Given the description of an element on the screen output the (x, y) to click on. 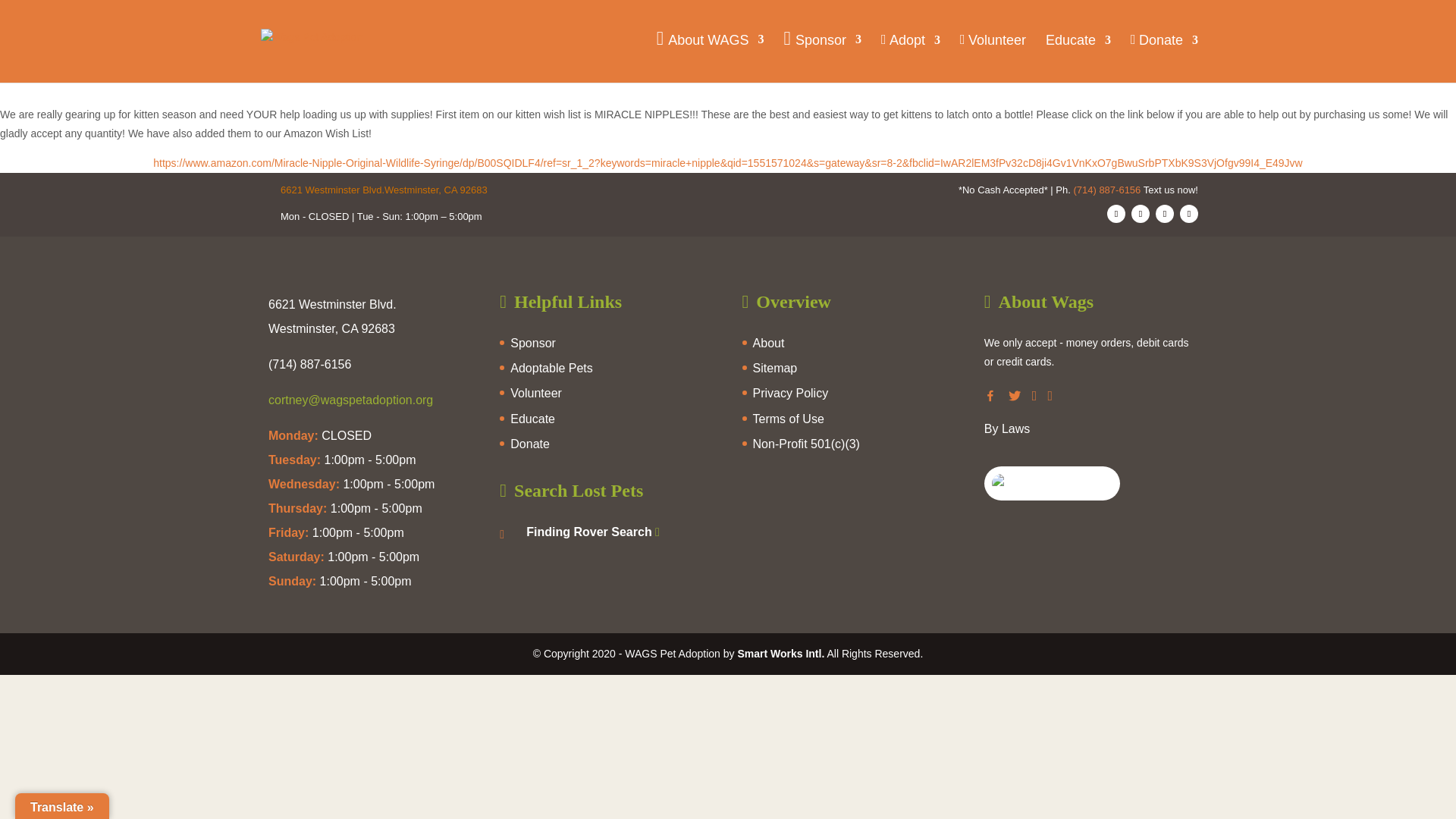
Follow on X (1140, 213)
Adopt (910, 57)
Volunteer (992, 57)
About WAGS (710, 58)
Donate (1164, 57)
Educate (1077, 57)
Sponsor (822, 58)
twitter icon with link (1014, 395)
facebook icon with link (990, 395)
about-wags (768, 342)
